Given the description of an element on the screen output the (x, y) to click on. 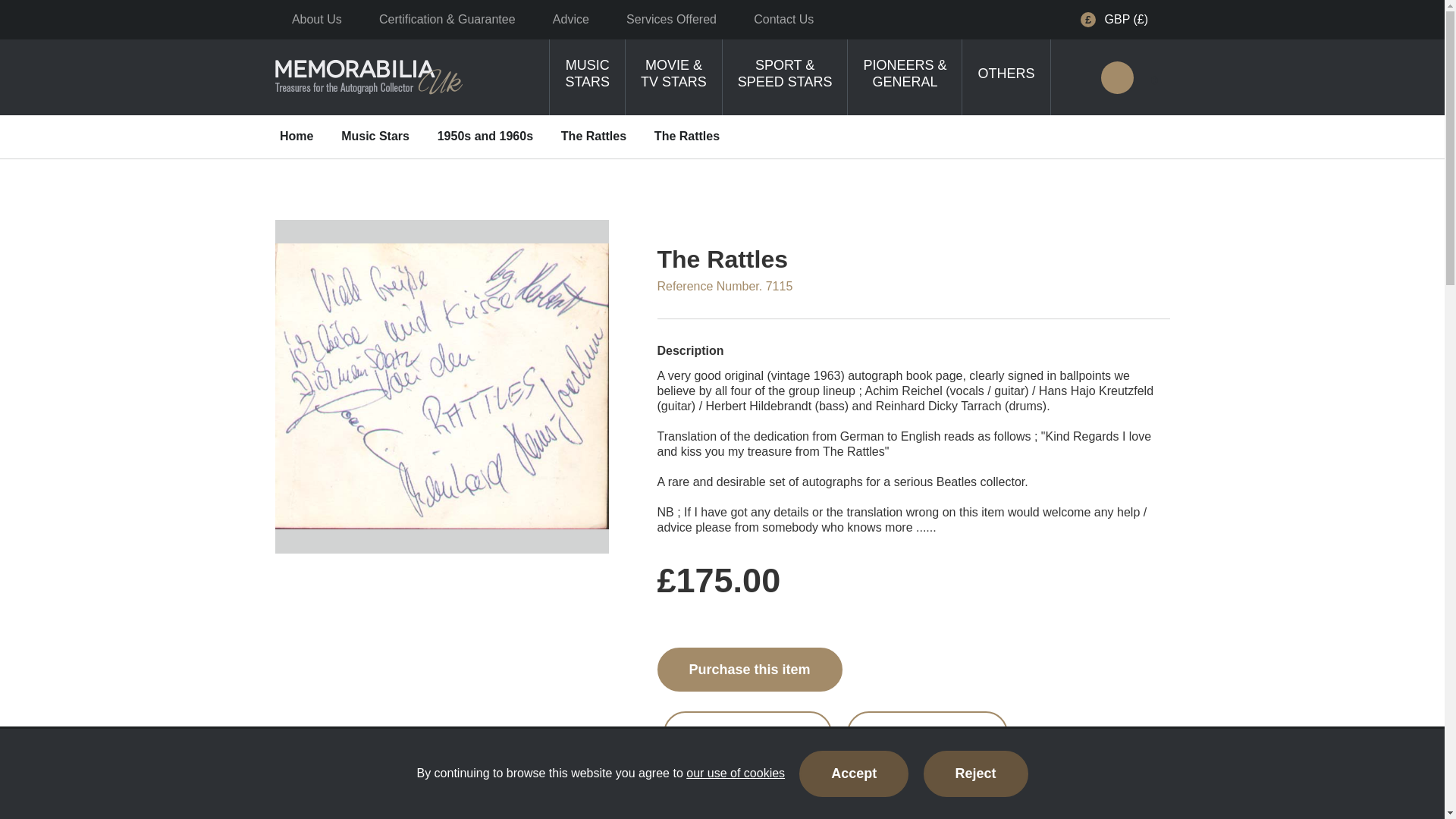
Contact Us (783, 18)
Advice (570, 18)
About Us (316, 18)
Services Offered (671, 18)
